Given the description of an element on the screen output the (x, y) to click on. 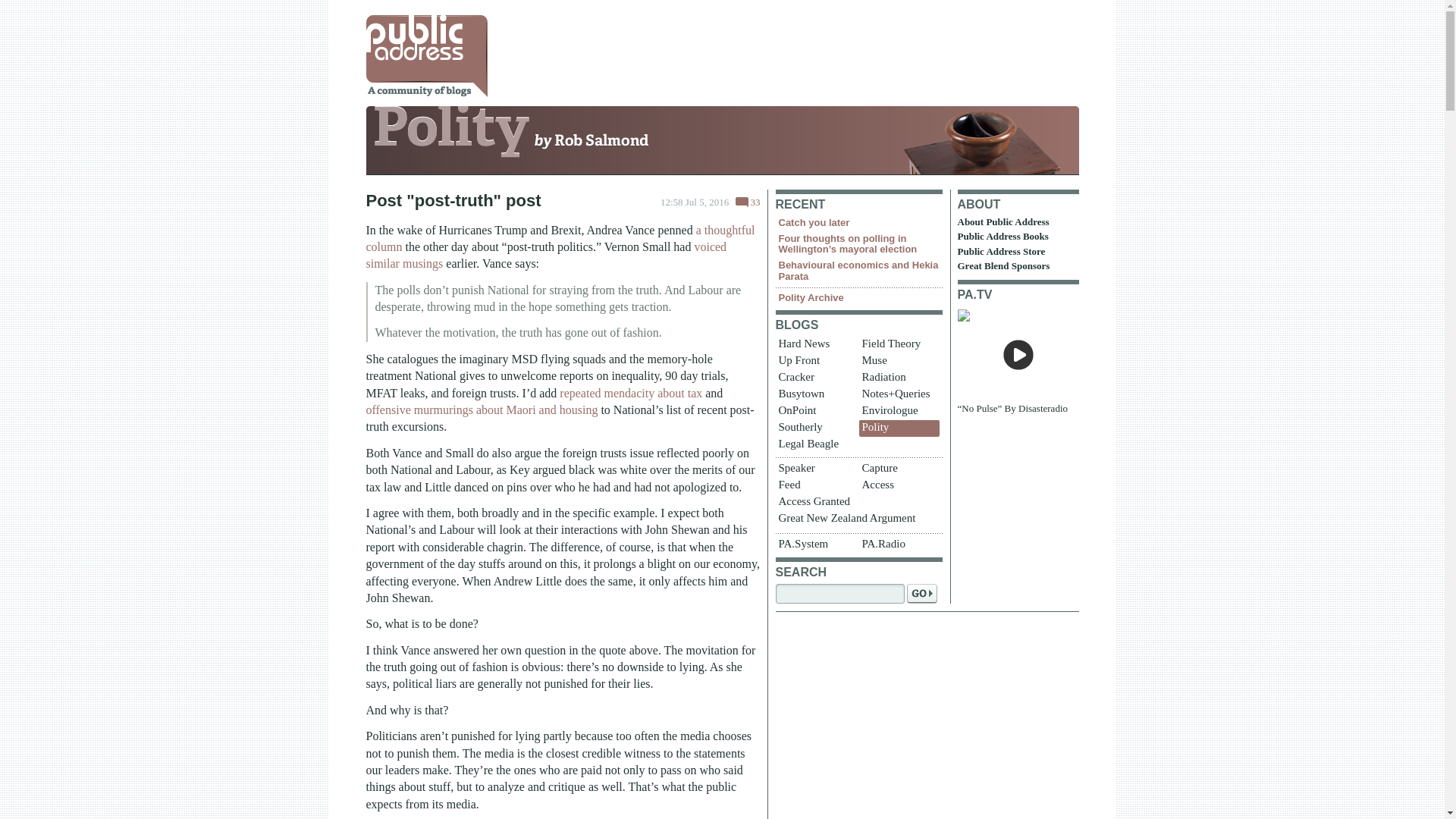
33 (747, 202)
voiced similar musings (545, 255)
a thoughtful column (559, 237)
repeated mendacity about tax (630, 392)
Public Address, a community of blogs (425, 56)
offensive murmurings about Maori and housing (480, 409)
Polity (721, 143)
Post "post-truth" post (452, 199)
33 responses (747, 202)
